Given the description of an element on the screen output the (x, y) to click on. 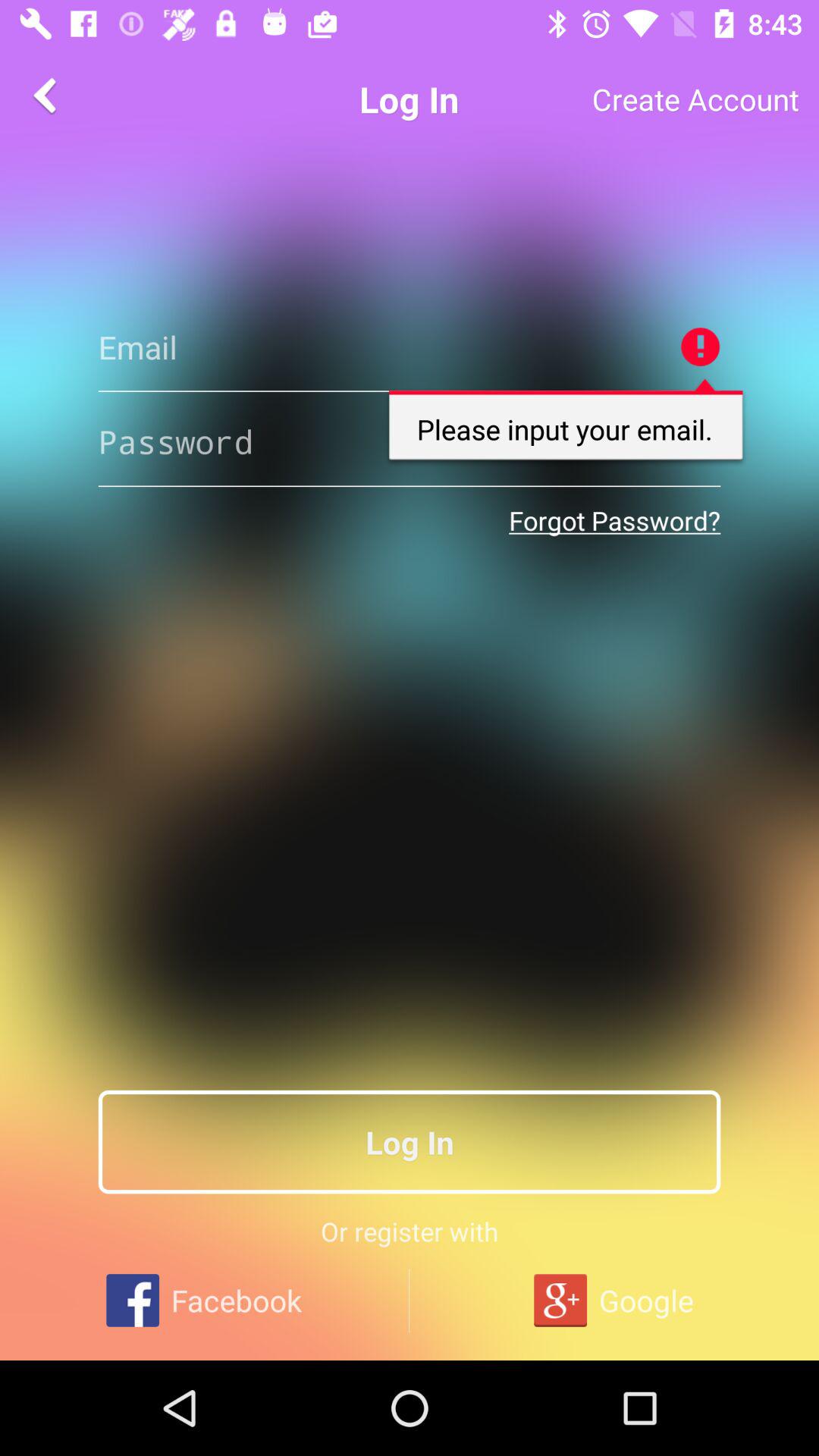
e-mail input (409, 347)
